Given the description of an element on the screen output the (x, y) to click on. 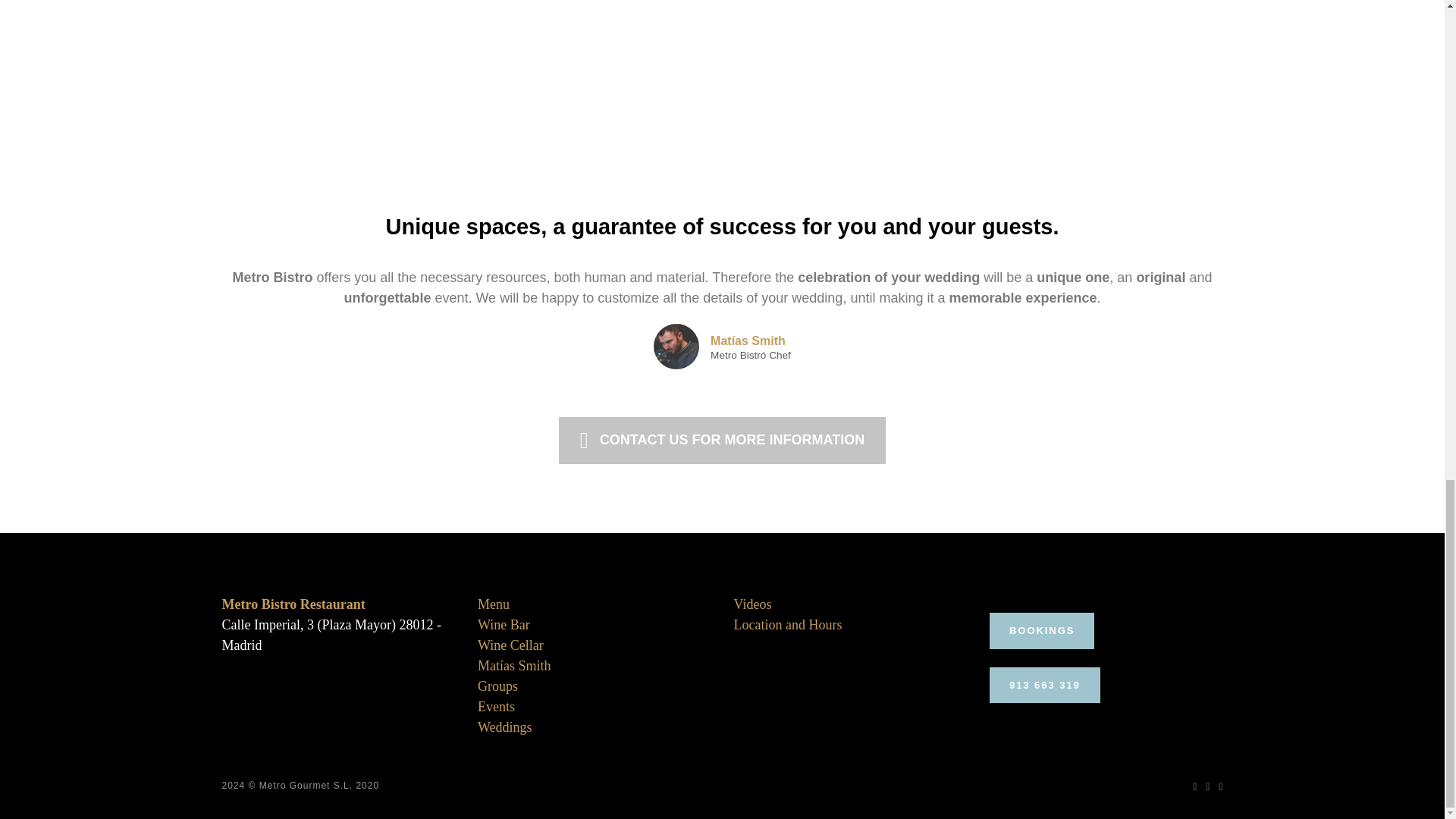
Metro Bistro Restaurant (293, 604)
Groups (497, 685)
Events (496, 706)
CONTACT US FOR MORE INFORMATION (722, 440)
Wine Bar (503, 624)
Menu (493, 604)
Weddings (504, 726)
Videos (752, 604)
Wine Cellar (510, 645)
